Given the description of an element on the screen output the (x, y) to click on. 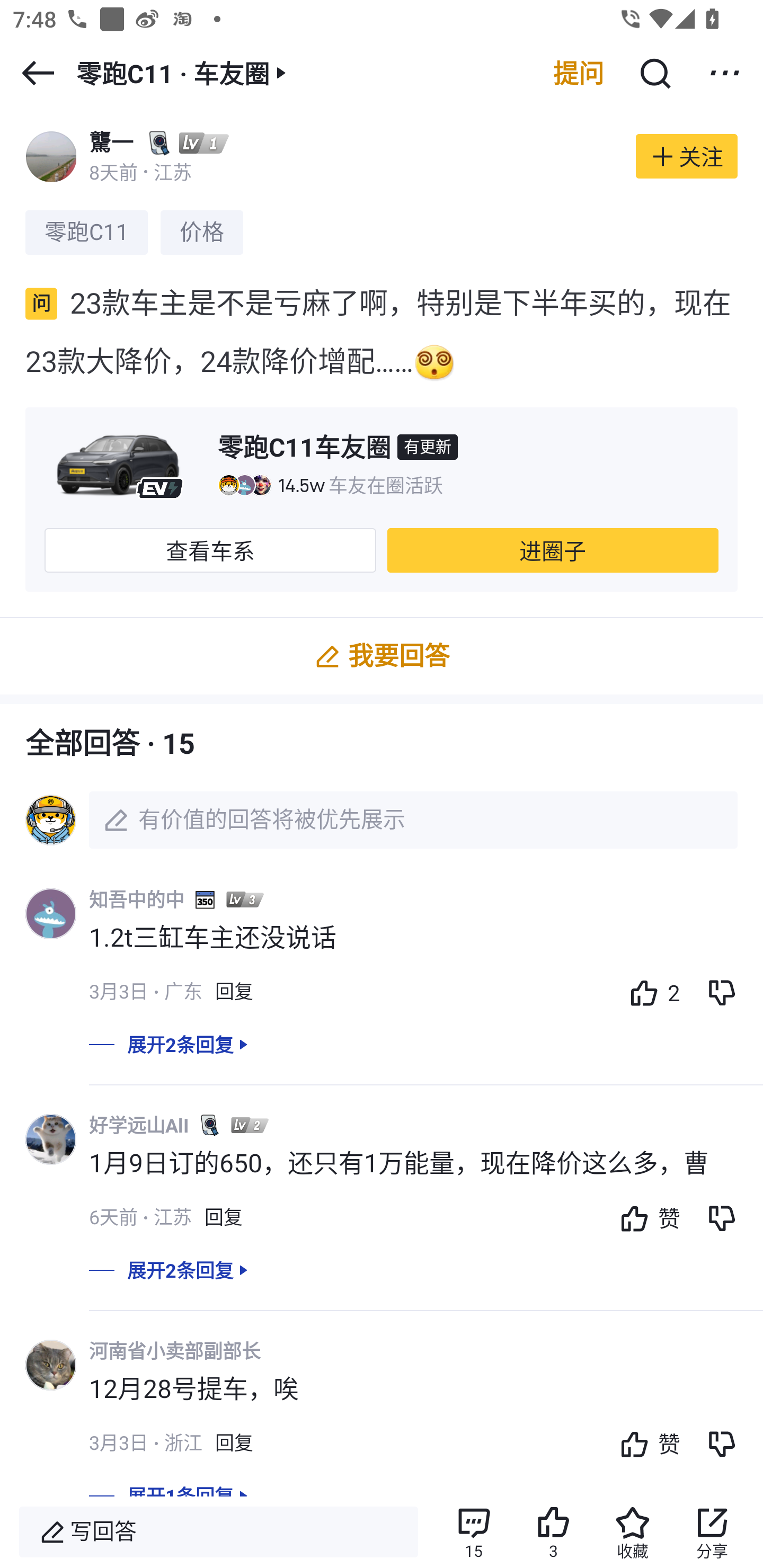
 (38, 72)
提问 (578, 72)
 (654, 72)
 (724, 72)
零跑C11  · 车友圈 (184, 73)
驡一 (111, 142)
 关注 (686, 155)
零跑C11 (86, 232)
价格 (201, 232)
零跑C11车友圈 有更新 14.5w 车友在圈活跃 查看车系 进圈子 (381, 499)
查看车系 (210, 550)
我要回答 (381, 655)
 有价值的回答将被优先展示 (381, 819)
知吾中的中 1.2t三缸车主还没说话 3月3日 < >广东 回复 2 (426, 957)
知吾中的中 (136, 899)
2 (649, 992)
展开2条回复  (381, 1057)
好学远山AlI 1月9日订的650，还只有1万能量，现在降价这么多，曹 6天前 < >江苏 回复 赞 (426, 1182)
好学远山AlI (139, 1124)
赞 (645, 1217)
展开2条回复  (381, 1282)
河南省小卖部副部长 12月28号提车，唉 3月3日 < >浙江 回复 赞 (426, 1408)
河南省小卖部副部长 (174, 1350)
赞 (645, 1443)
 15 (473, 1531)
3 (553, 1531)
收藏 (632, 1531)
 分享 (711, 1531)
 写回答 (218, 1531)
